Given the description of an element on the screen output the (x, y) to click on. 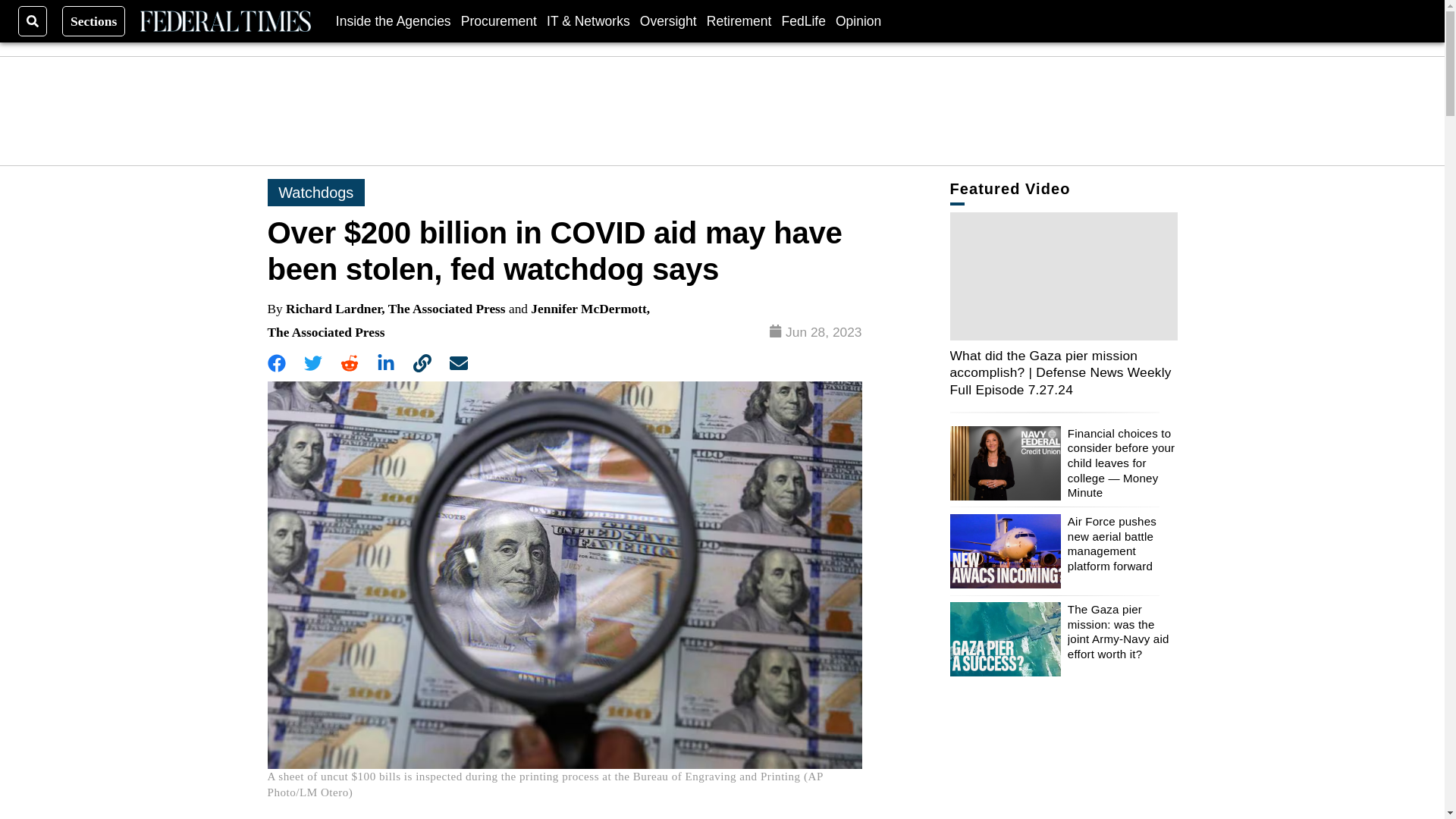
Inside the Agencies (393, 20)
Opinion (857, 20)
FedLife (802, 20)
Sections (93, 20)
Procurement (499, 20)
Oversight (668, 20)
Federal Times Logo (224, 20)
Retirement (738, 20)
